Given the description of an element on the screen output the (x, y) to click on. 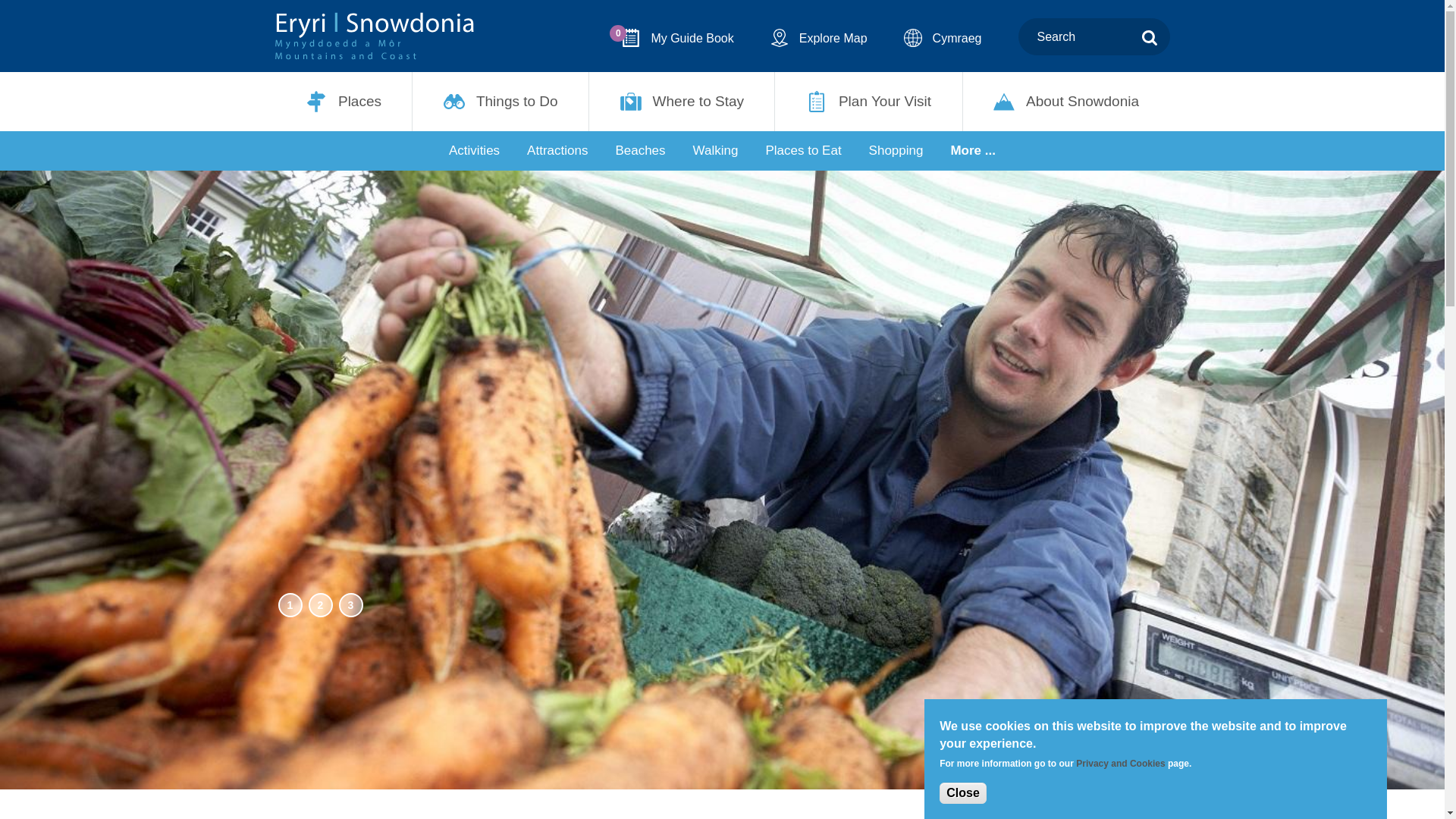
Beaches (639, 150)
Information on shops and local produce in the area (896, 150)
Details about the various beaches in the area. (639, 150)
Things to Do (500, 101)
Home (374, 35)
Search icon Search website posts (1149, 37)
Details about the various activities in the area. (474, 150)
Plan Your Visit (867, 101)
Details about the various attractions in the area. (557, 150)
Attractions (557, 150)
Walking (715, 150)
Places (343, 101)
Close Navigation (19, 19)
Search icon Search website posts (1149, 36)
